Given the description of an element on the screen output the (x, y) to click on. 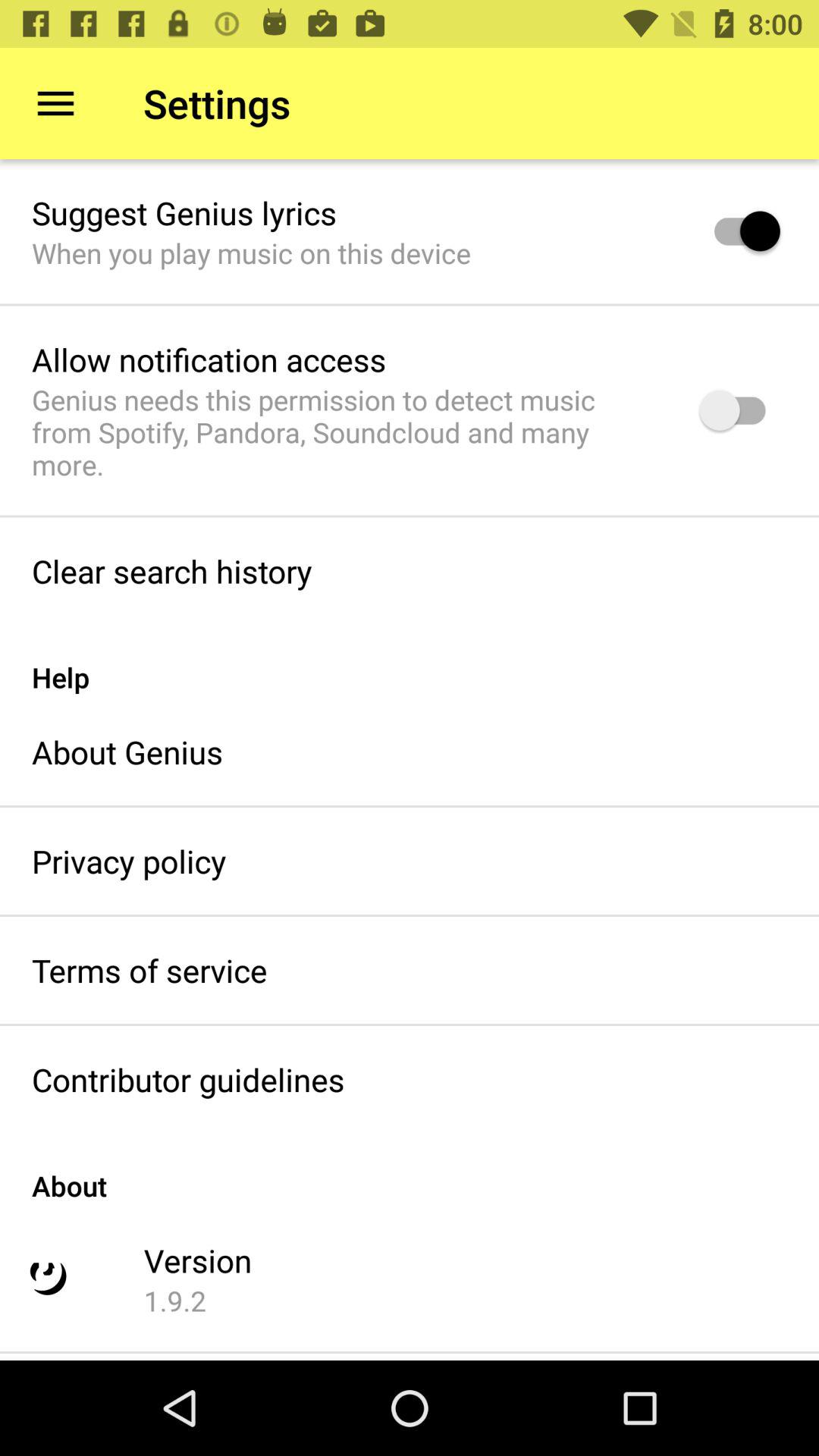
click allow notification access icon (208, 359)
